Given the description of an element on the screen output the (x, y) to click on. 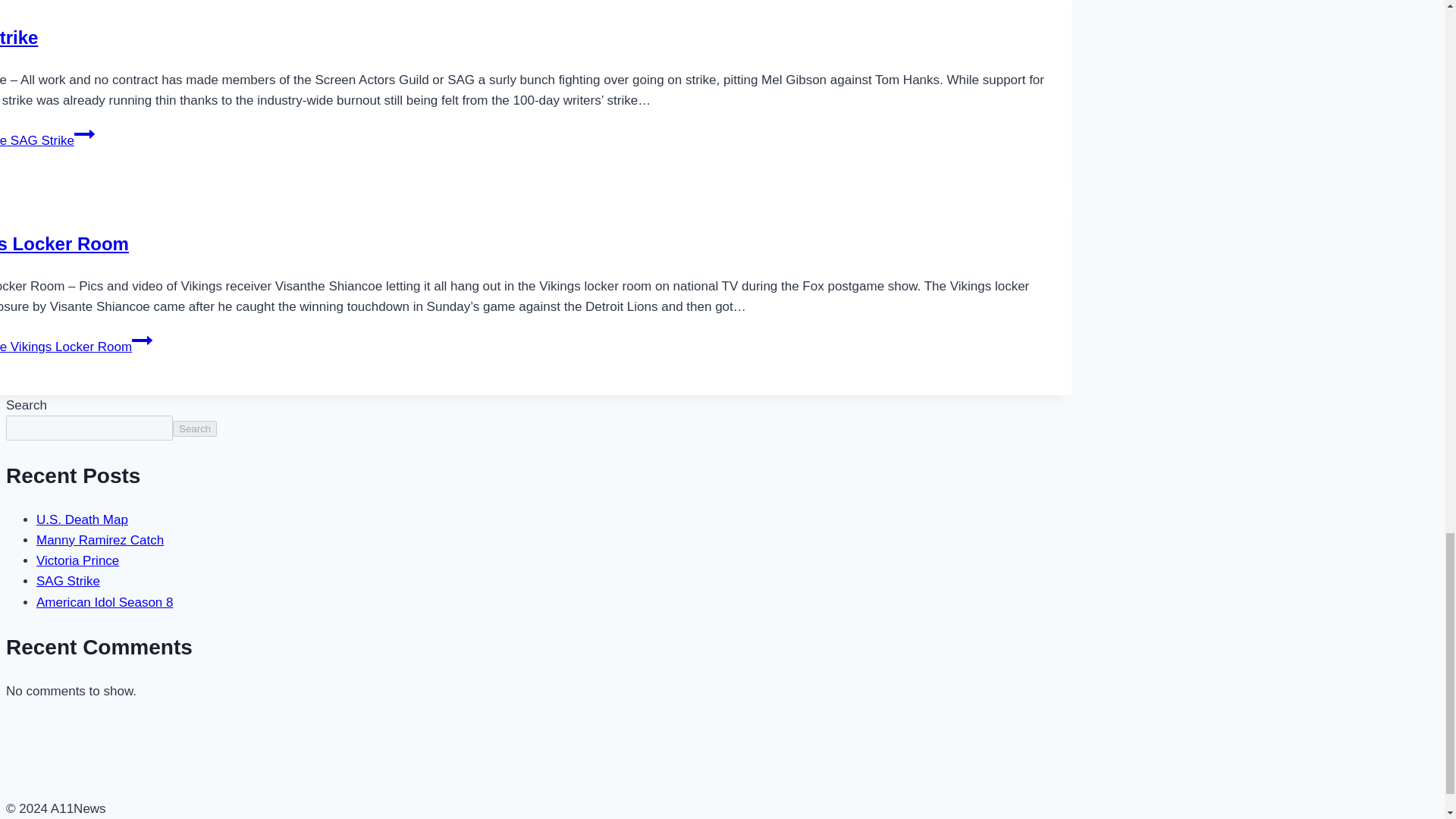
Read More SAG StrikeContinue (47, 140)
Continue (142, 340)
Continue (84, 133)
Read More Vikings Locker RoomContinue (76, 346)
U.S. Death Map (82, 519)
SAG Strike (18, 37)
Search (194, 428)
Victoria Prince (77, 560)
Manny Ramirez Catch (99, 540)
SAG Strike (68, 581)
Vikings Locker Room (64, 243)
American Idol Season 8 (104, 602)
